Given the description of an element on the screen output the (x, y) to click on. 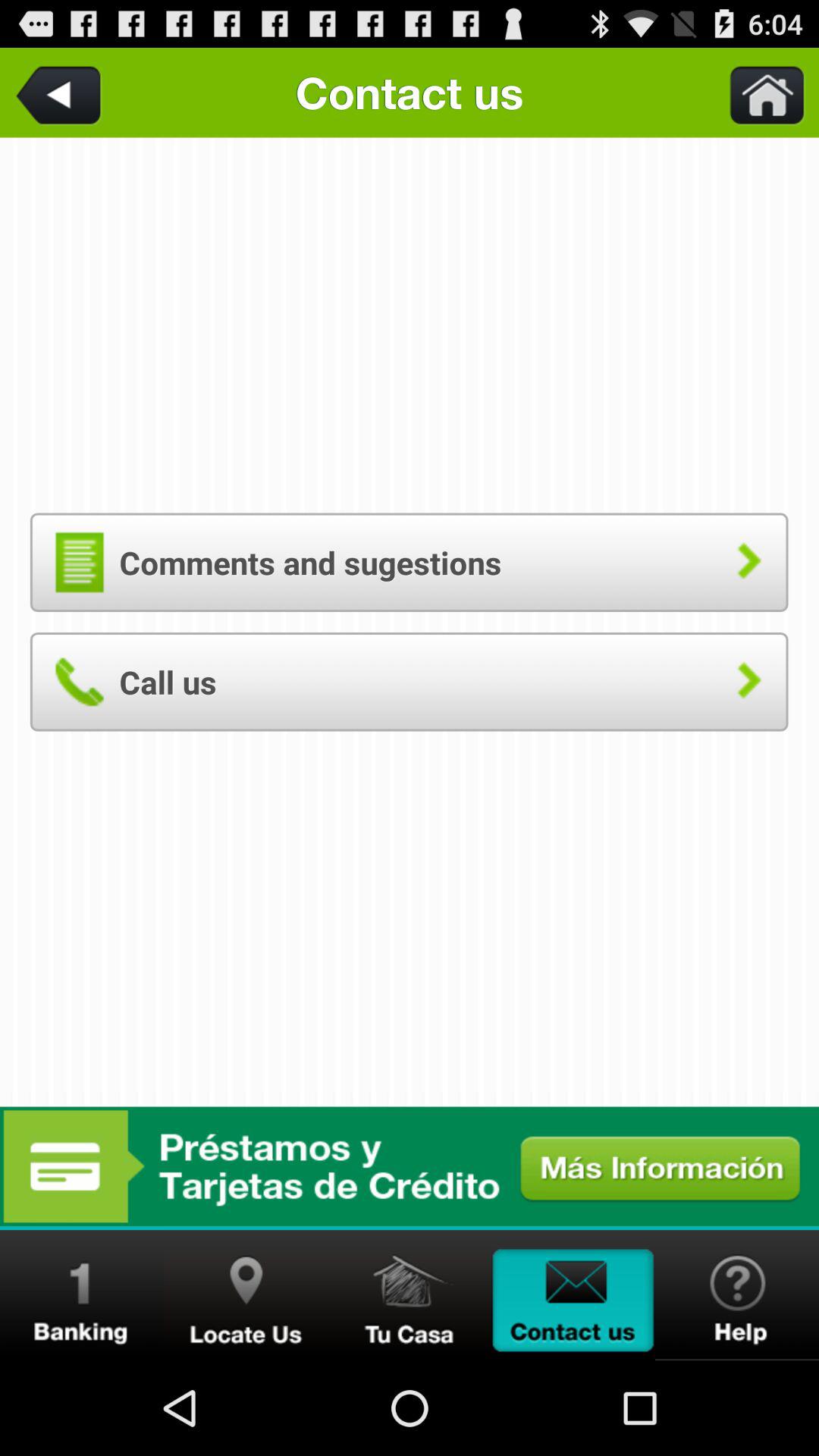
a place to view the link to an advertisement on another page (409, 1166)
